Given the description of an element on the screen output the (x, y) to click on. 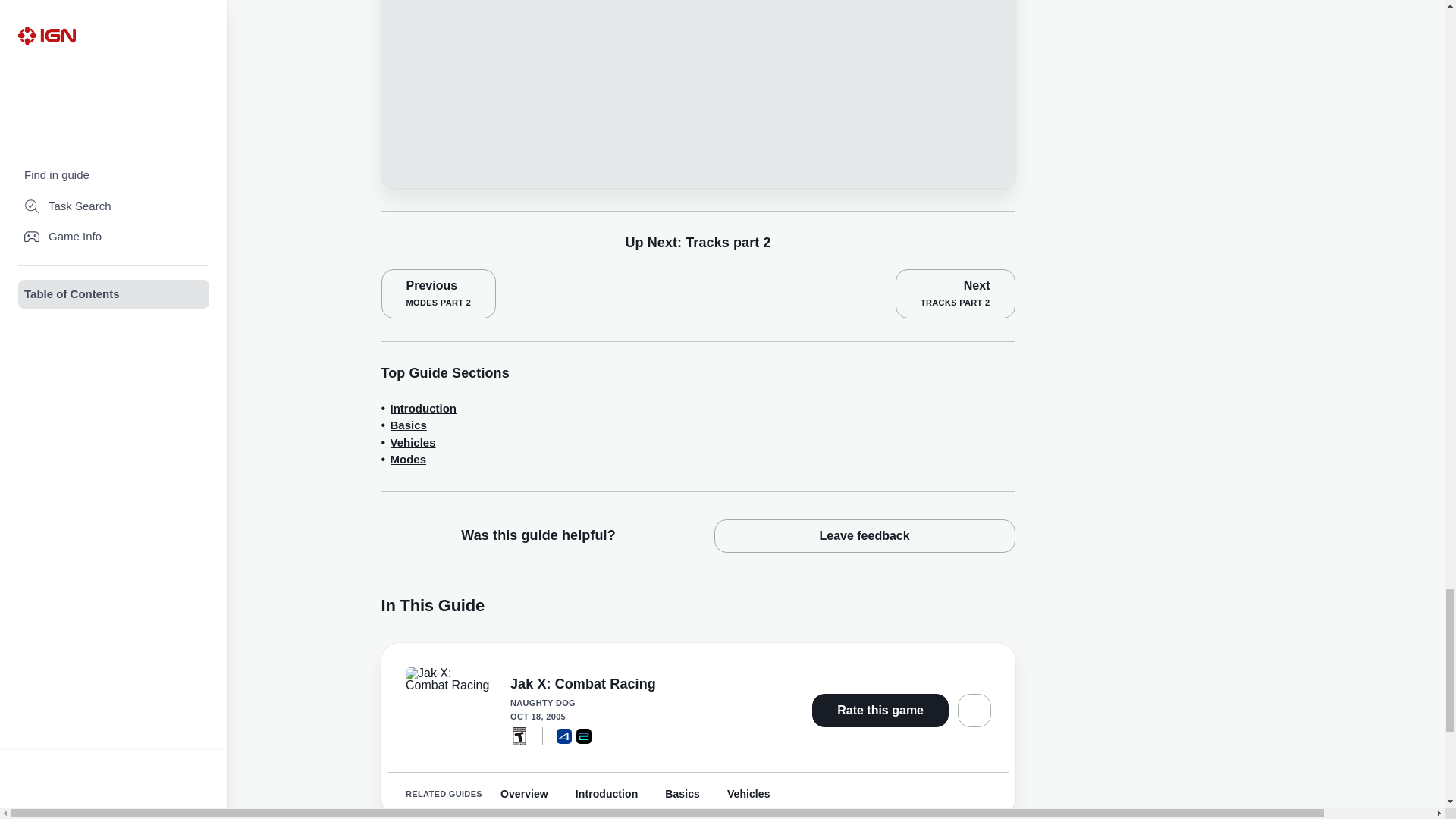
PlayStation 4 (564, 735)
PlayStation 2 (583, 735)
ESRB: Teen (518, 736)
